Given the description of an element on the screen output the (x, y) to click on. 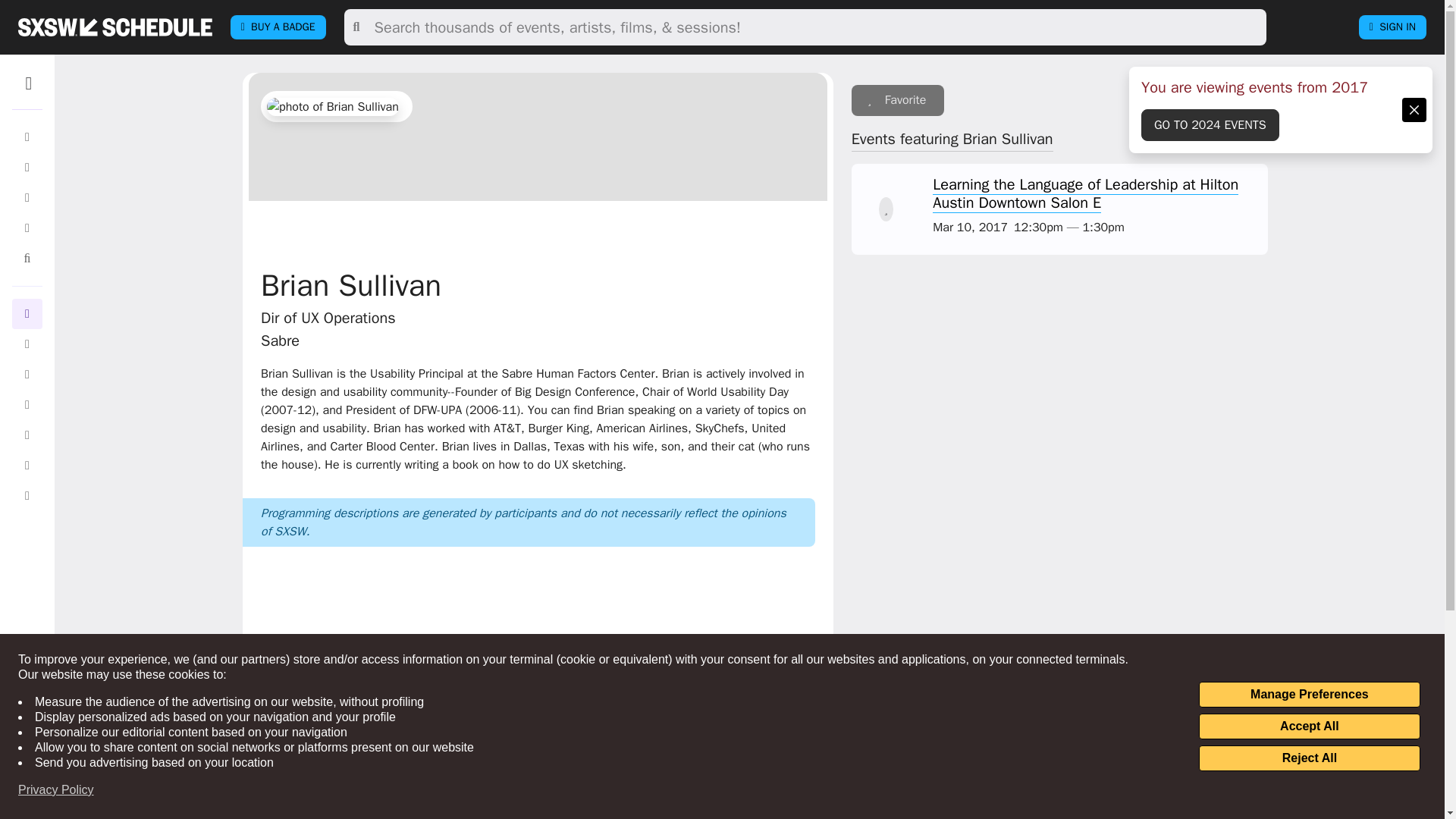
Manage Preferences (1309, 694)
sxsw SCHEDULE (114, 27)
SIGN IN (1392, 27)
Sign In to add to your favorites. (897, 100)
Accept All (1309, 726)
BUY A BADGE (278, 27)
Privacy Policy (55, 789)
Reject All (1309, 758)
GO TO 2024 EVENTS (1210, 124)
